Given the description of an element on the screen output the (x, y) to click on. 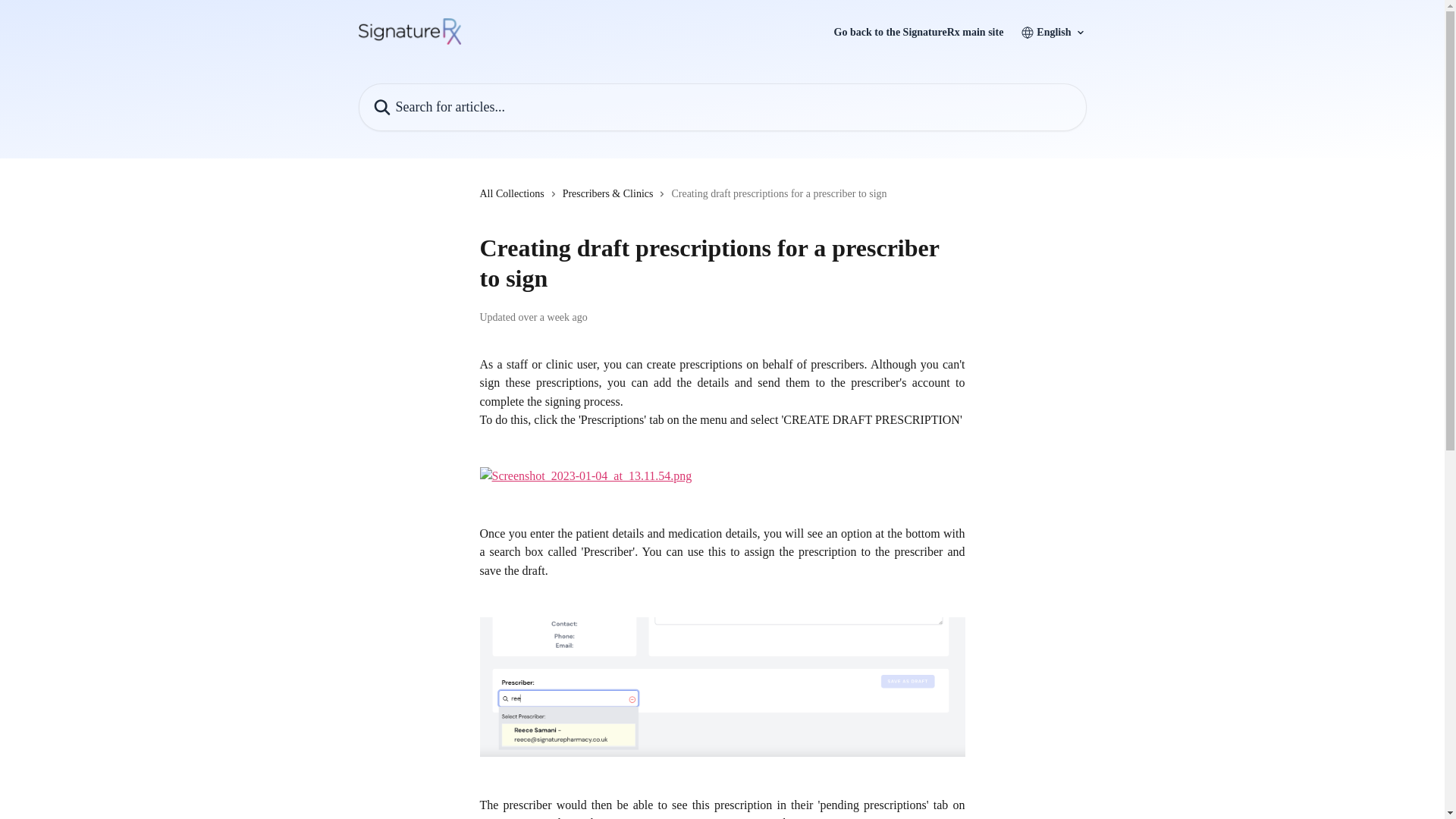
All Collections (514, 193)
Go back to the SignatureRx main site (919, 32)
